Given the description of an element on the screen output the (x, y) to click on. 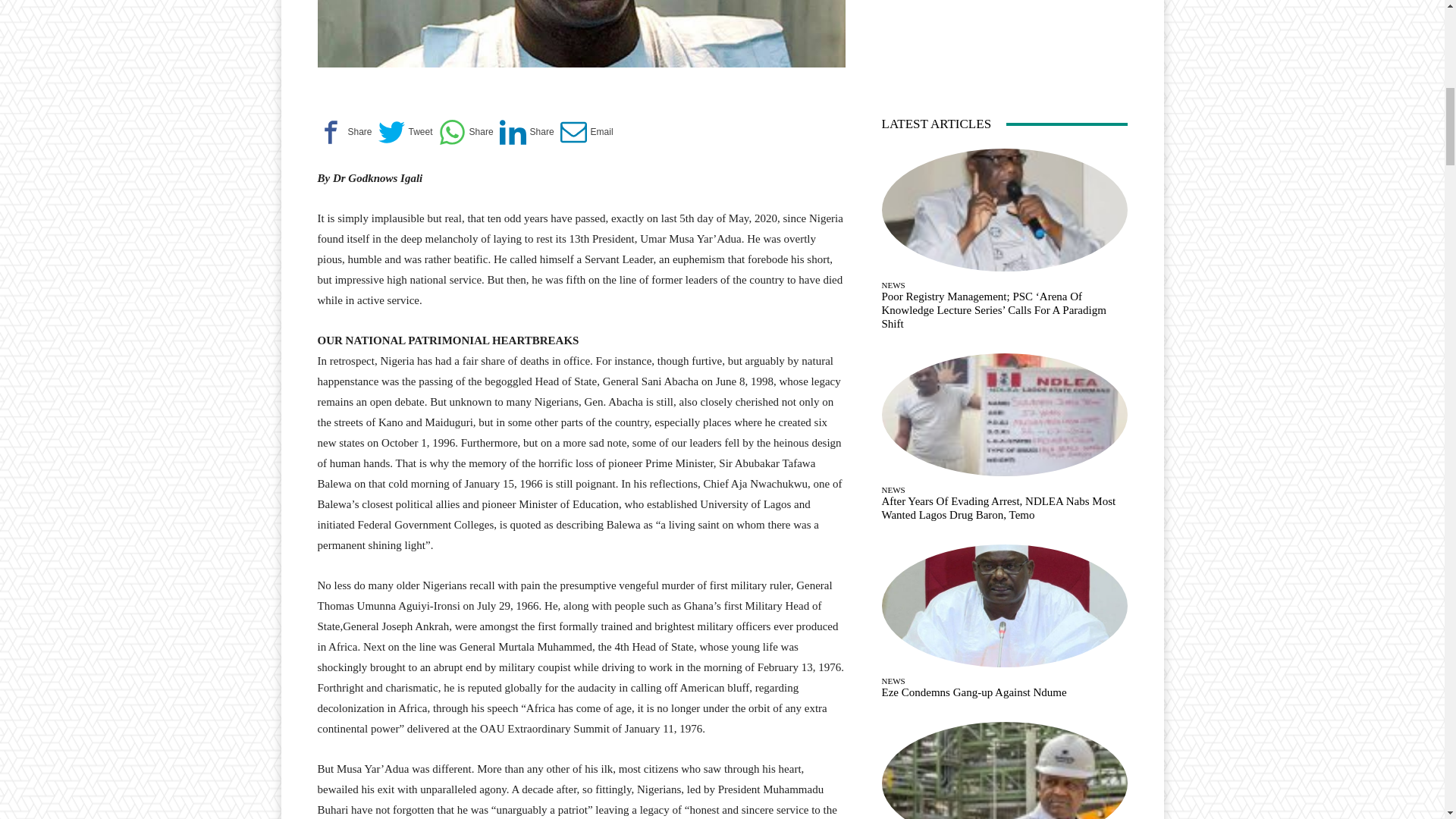
Tweet (405, 131)
images-1 (580, 33)
Share on WhatsApp (466, 131)
Share on Facebook (344, 131)
